Given the description of an element on the screen output the (x, y) to click on. 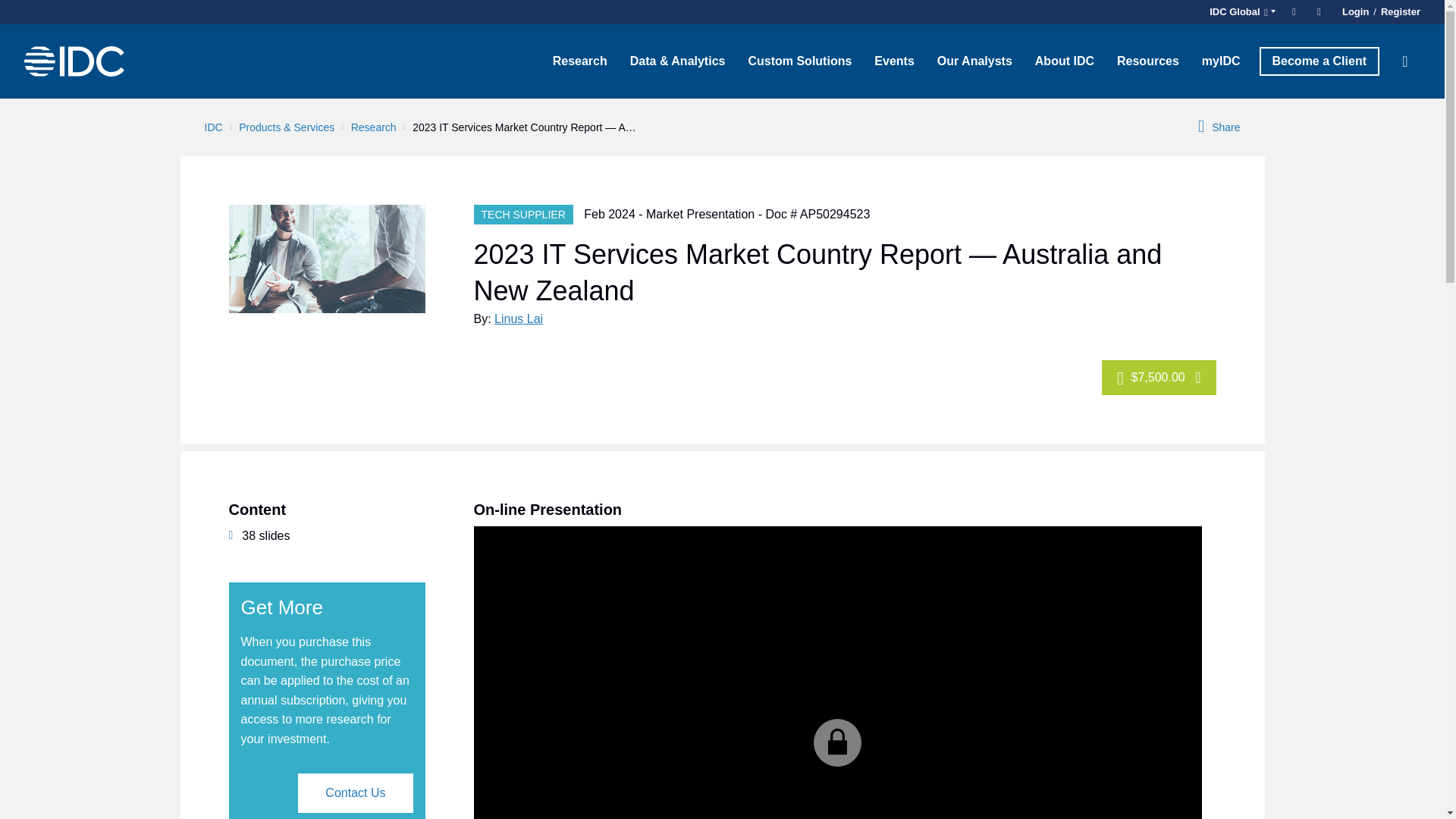
IDC Global (1240, 12)
Events (893, 60)
Our Analysts (974, 60)
Research (579, 60)
Register (1398, 12)
Custom Solutions (799, 60)
myIDC (1221, 60)
Search (1405, 61)
Login (1355, 12)
Become a Client (1318, 60)
About IDC (1064, 60)
Resources (1148, 60)
